Given the description of an element on the screen output the (x, y) to click on. 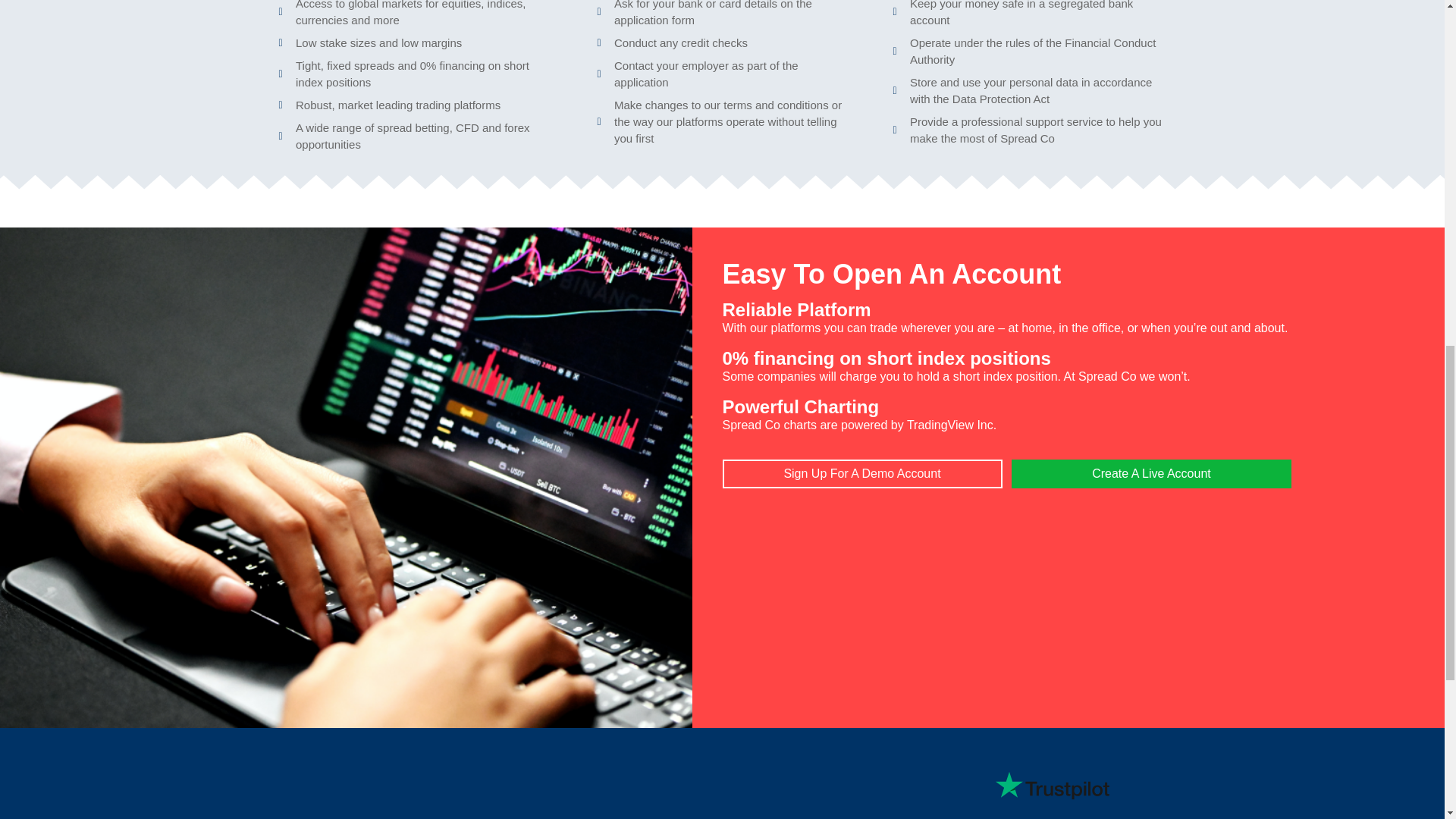
Customer reviews powered by Trustpilot (1052, 785)
